Given the description of an element on the screen output the (x, y) to click on. 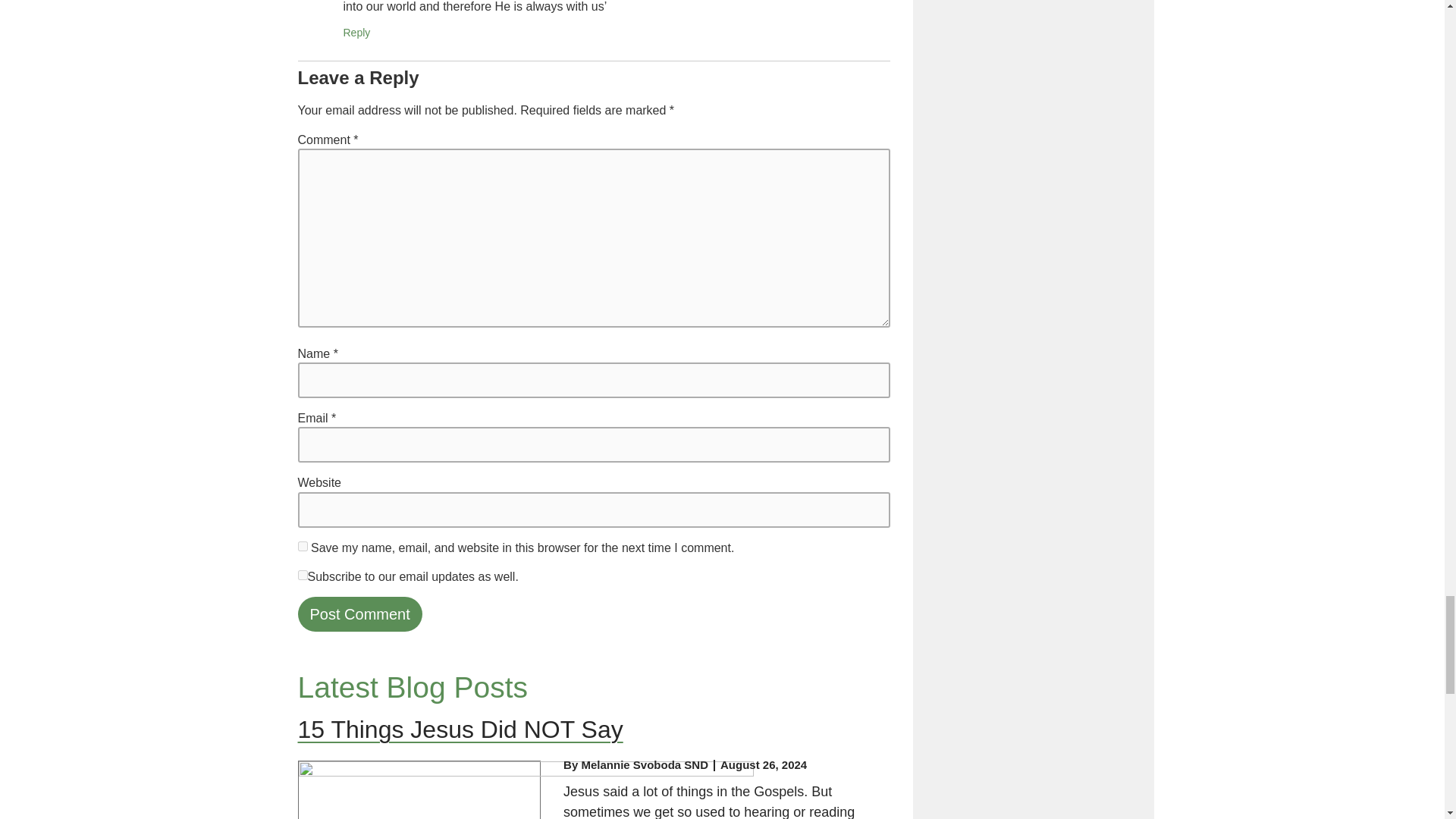
yes (302, 574)
yes (302, 546)
Post Comment (359, 614)
